Given the description of an element on the screen output the (x, y) to click on. 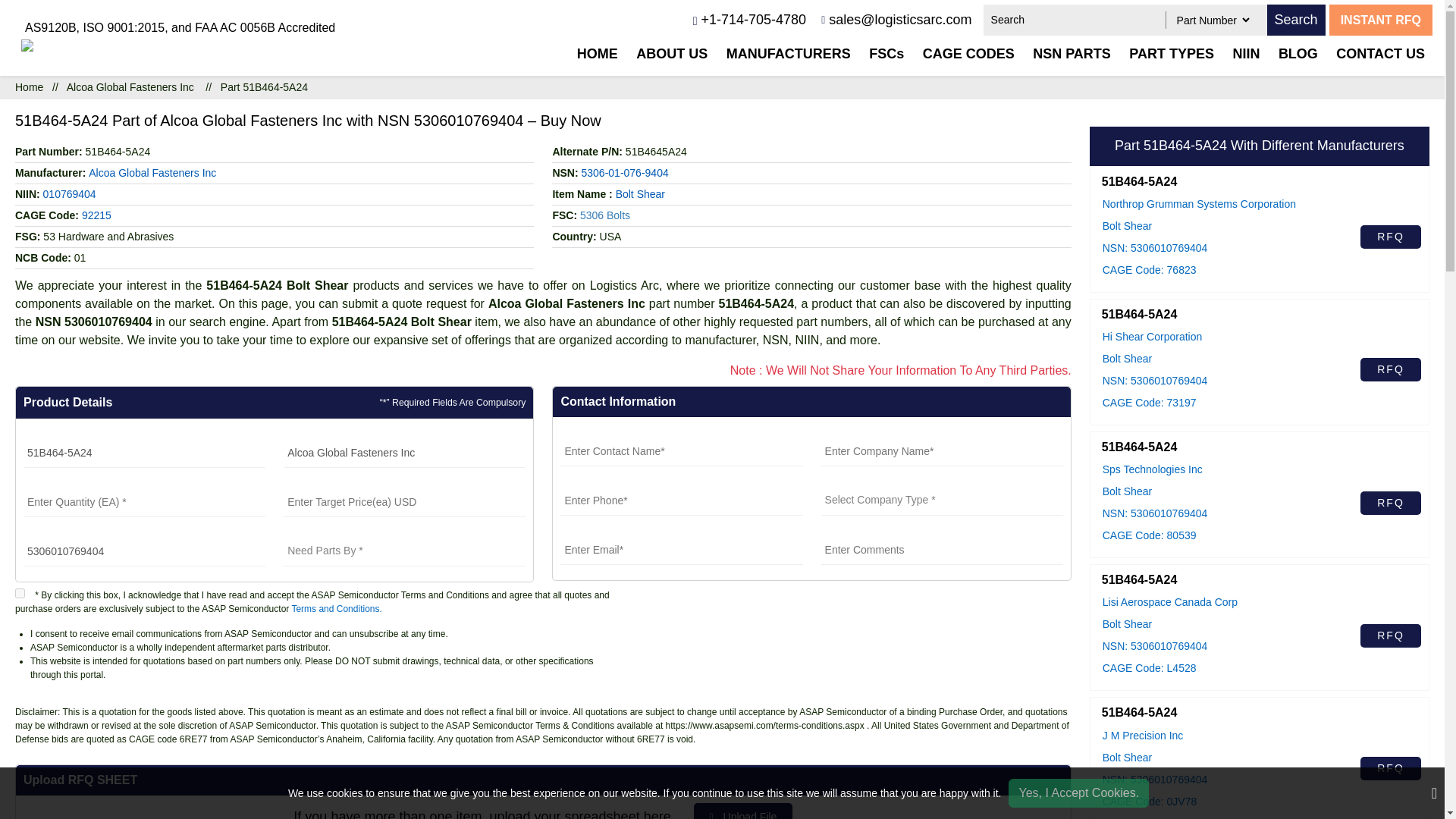
CAGE CODES (968, 54)
CONTACT US (1379, 54)
INSTANT RFQ (1380, 20)
FSCs (886, 54)
Search (1295, 20)
Home (28, 87)
ABOUT US (671, 54)
Alcoa Global Fasteners Inc (151, 173)
  SUBMIT (961, 602)
Bolt Shear (640, 193)
